Given the description of an element on the screen output the (x, y) to click on. 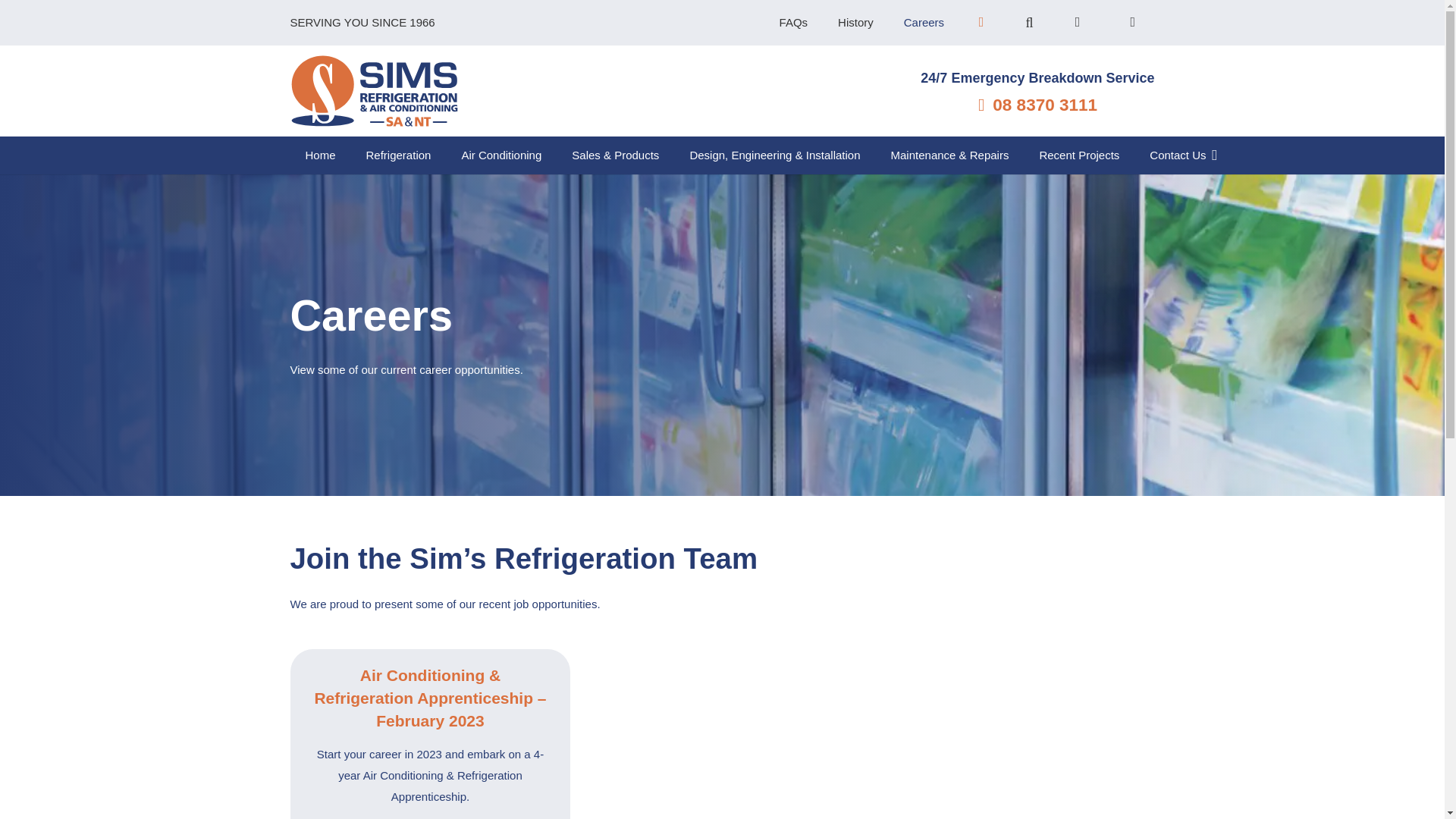
Contact Us (1182, 155)
Careers (923, 22)
Air Conditioning (500, 155)
History (855, 22)
Recent Projects (1078, 155)
08 8370 3111 (1037, 105)
FAQs (794, 22)
Refrigeration (398, 155)
Home (319, 155)
